Given the description of an element on the screen output the (x, y) to click on. 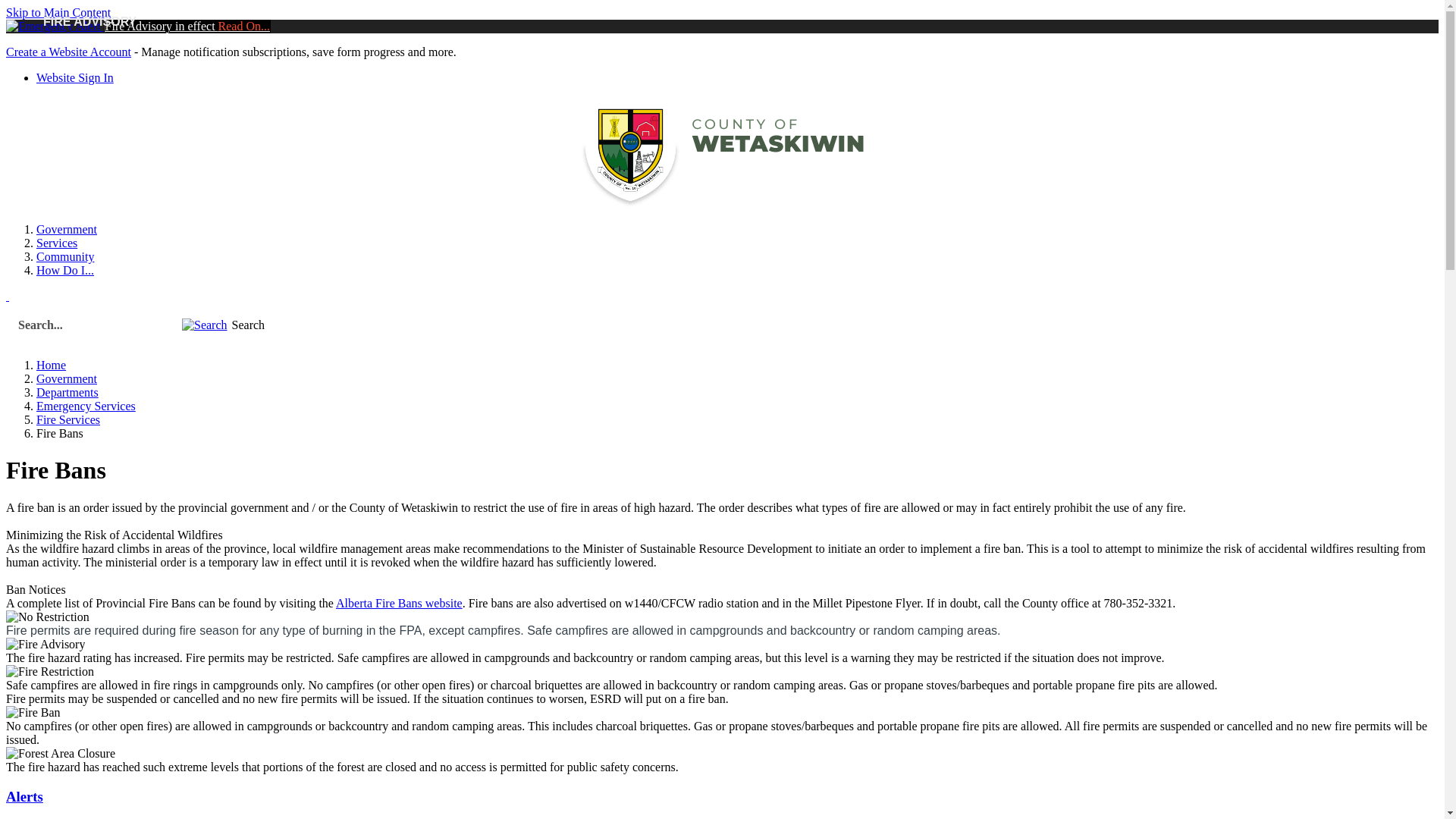
Government Element type: text (66, 378)
Emergency Services Element type: text (85, 405)
Fire Services Element type: text (68, 419)
Search... Element type: hover (92, 324)
Fire Advisory in effect Read On... Element type: text (187, 25)
Government Element type: text (66, 228)
FIRE ADVISORY Element type: text (55, 25)
Create a Website Account Element type: text (68, 51)
Fire Ban Element type: hover (33, 712)
Forest Area Closure Element type: hover (60, 753)
Home Element type: text (50, 364)
Services Element type: text (56, 242)
Website Sign In Element type: text (74, 77)
No Restriction Element type: hover (47, 617)
Community Element type: text (65, 256)
  Element type: text (7, 295)
Alberta Fire Bans website Element type: text (398, 602)
Fire Restriction Element type: hover (50, 671)
Departments Element type: text (67, 391)
Skip to Main Content Element type: text (58, 12)
How Do I... Element type: text (65, 269)
Fire Advisory Element type: hover (45, 644)
Alerts Element type: text (24, 796)
